Given the description of an element on the screen output the (x, y) to click on. 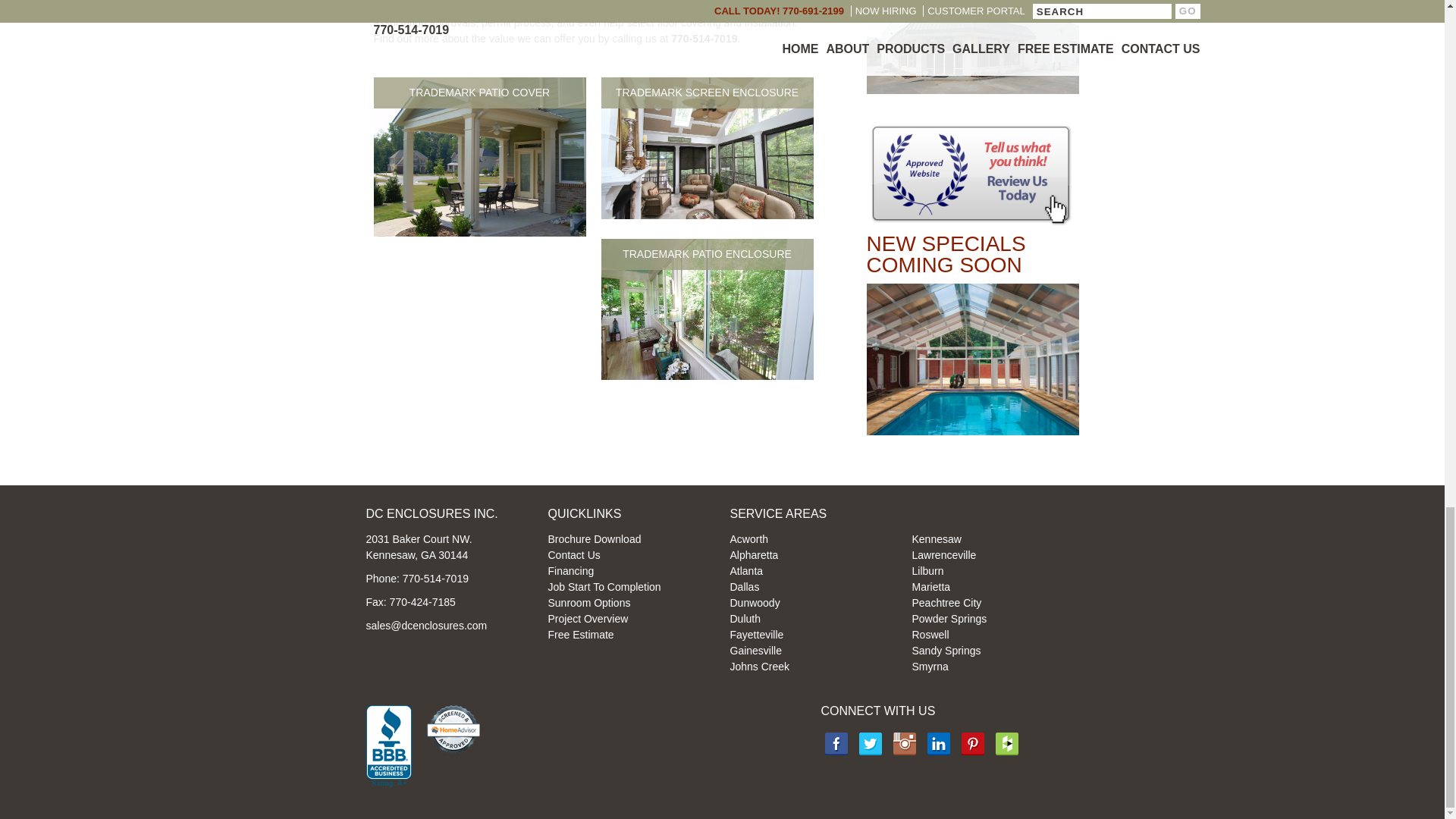
TRADEMARK PATIO COVER (478, 232)
Trademark Screen Enclosure (705, 147)
Trademark Patio Enclosure (705, 309)
TRADEMARK PATIO ENCLOSURE (705, 376)
facebook (904, 743)
TRADEMARK SCREEN ENCLOSURE (705, 215)
Home Advisor Award (452, 729)
facebook (836, 743)
Trademark (972, 47)
facebook (869, 743)
Trademark Patio Cover (478, 156)
